Given the description of an element on the screen output the (x, y) to click on. 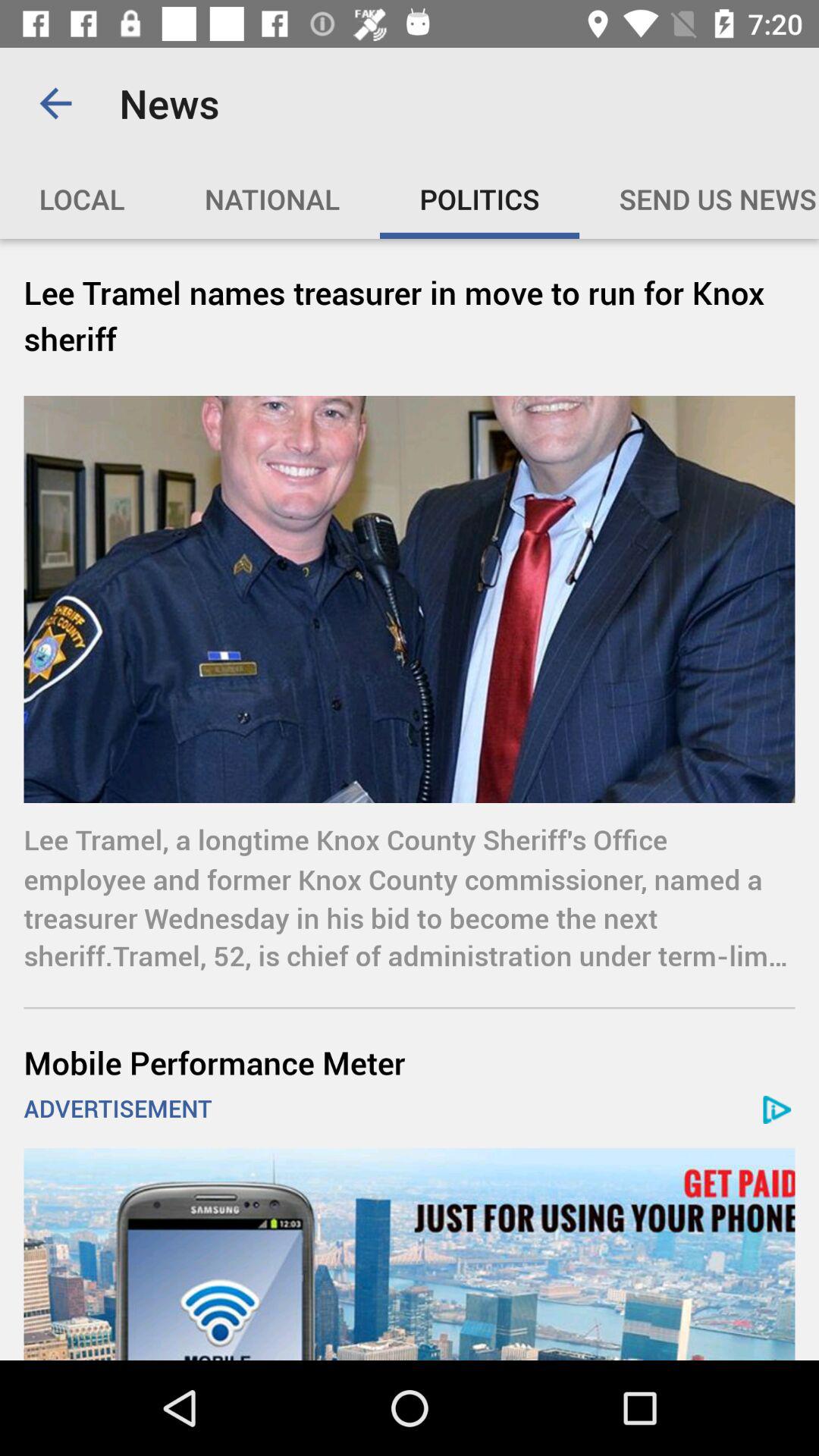
open advertisement (409, 1254)
